Given the description of an element on the screen output the (x, y) to click on. 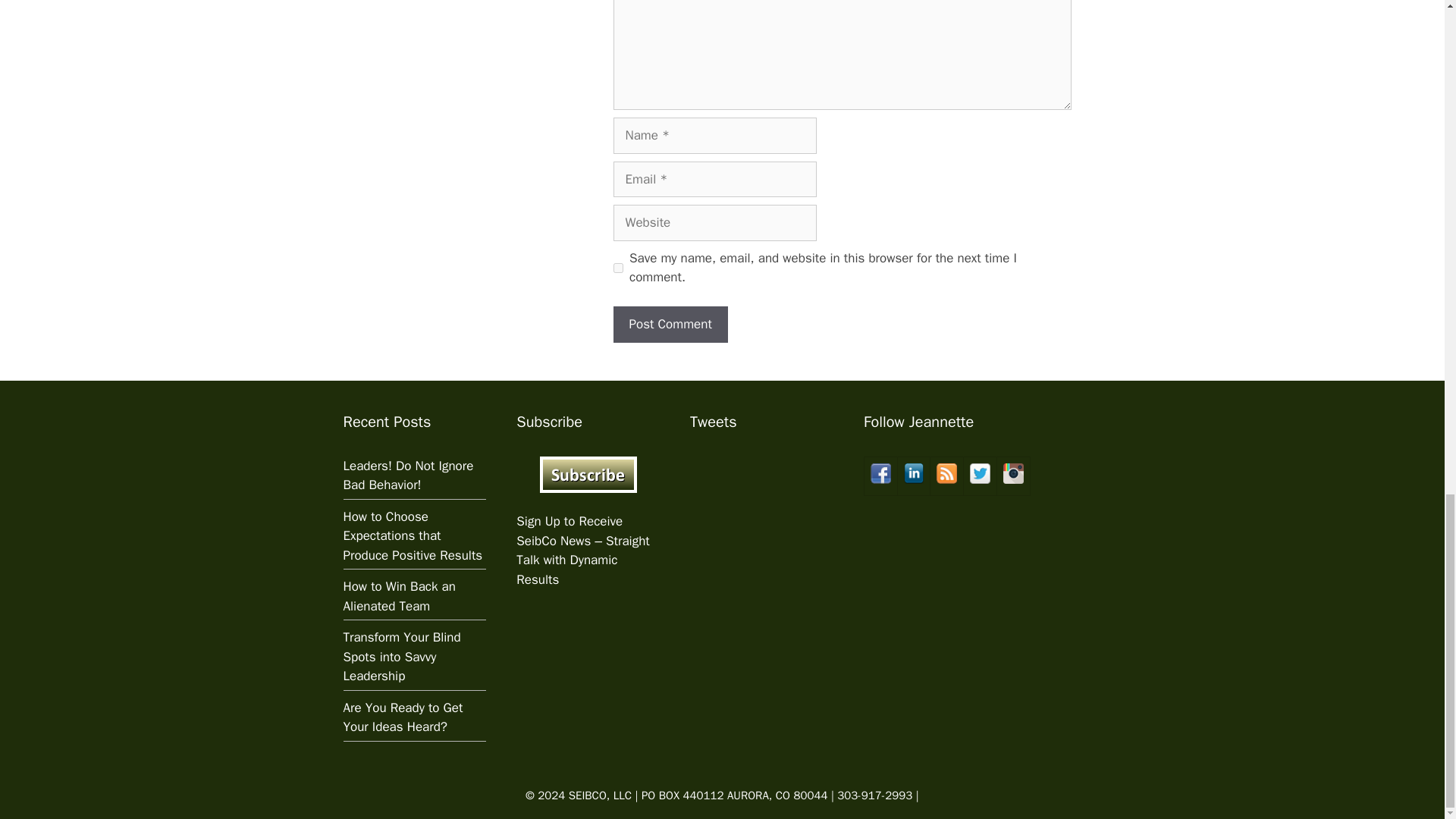
Scroll back to top (1406, 276)
Post Comment (669, 324)
yes (617, 267)
